Given the description of an element on the screen output the (x, y) to click on. 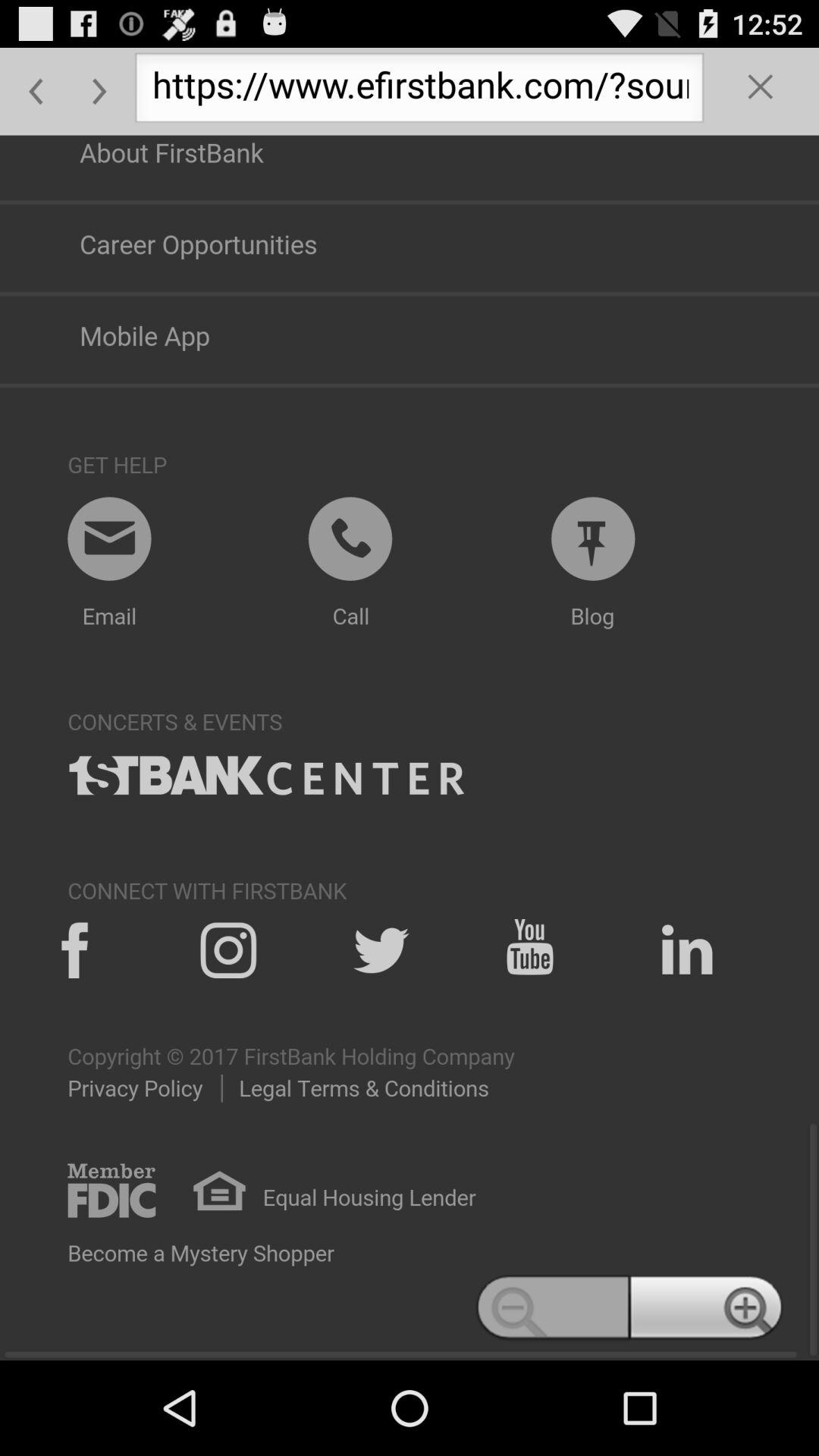
swtich autoplay option (409, 747)
